Given the description of an element on the screen output the (x, y) to click on. 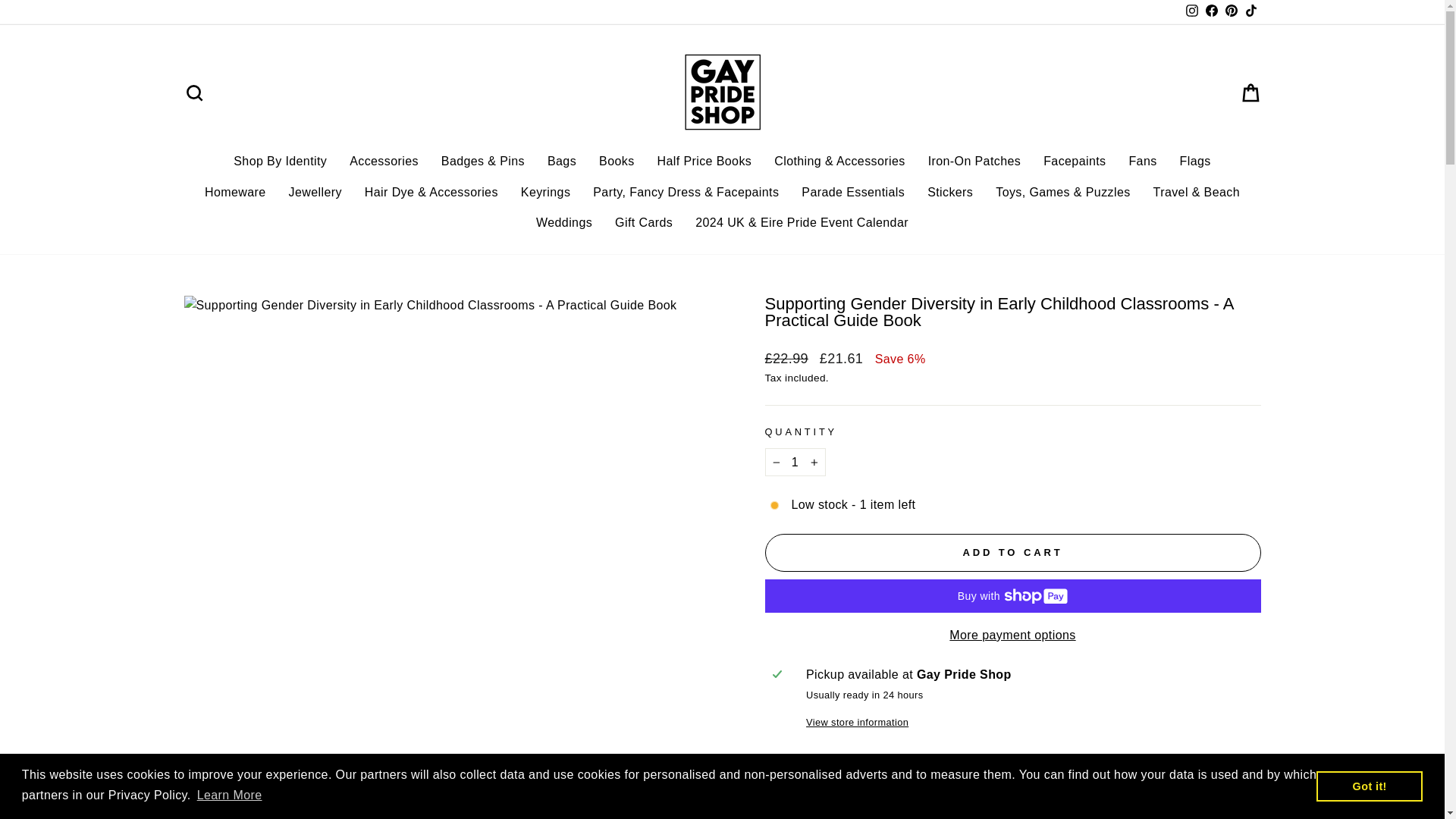
1 (794, 461)
Learn More (228, 794)
Got it! (1369, 786)
